Given the description of an element on the screen output the (x, y) to click on. 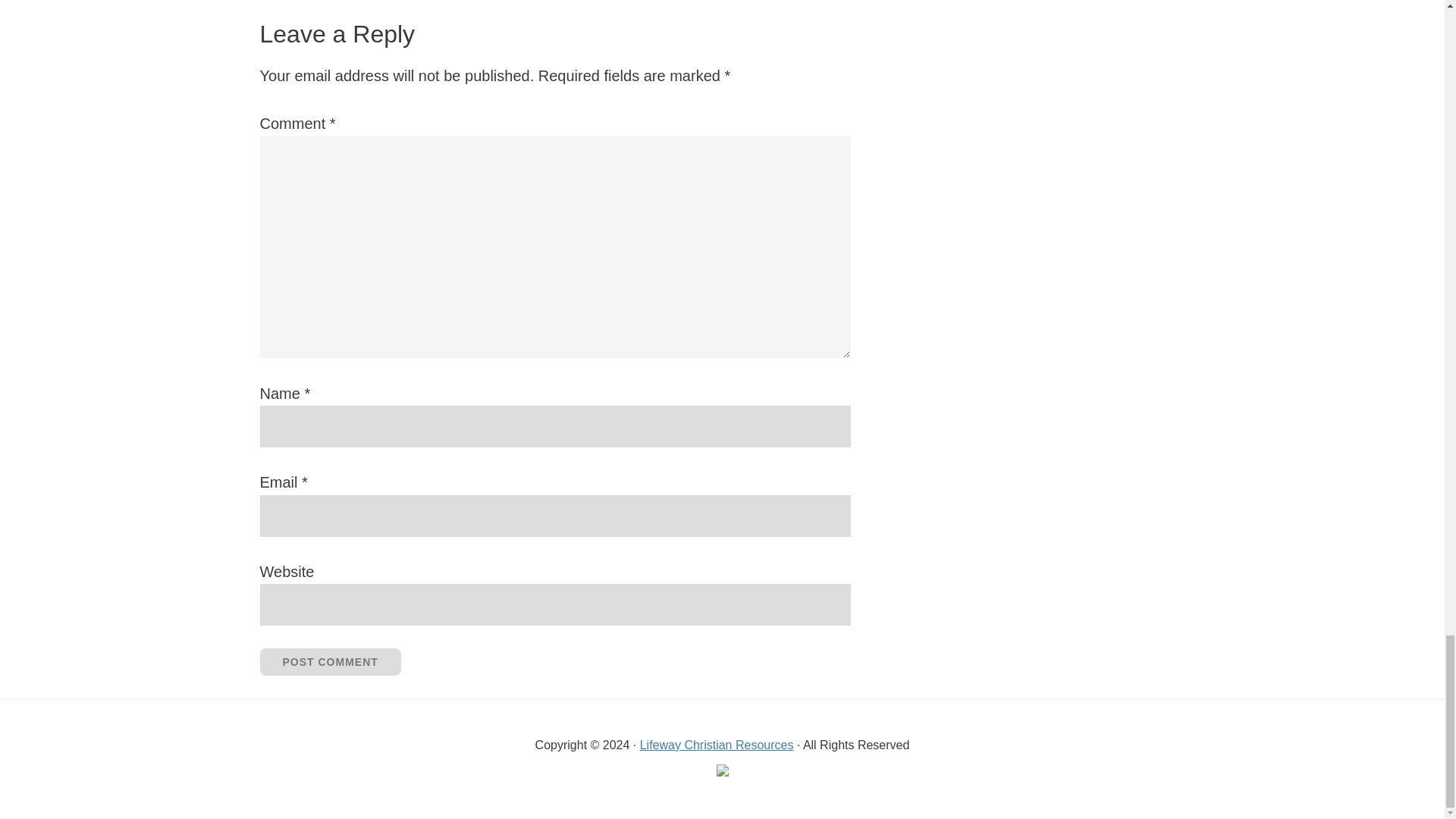
Lifeway Christian Resources (716, 744)
Post Comment (329, 661)
Post Comment (329, 661)
